Given the description of an element on the screen output the (x, y) to click on. 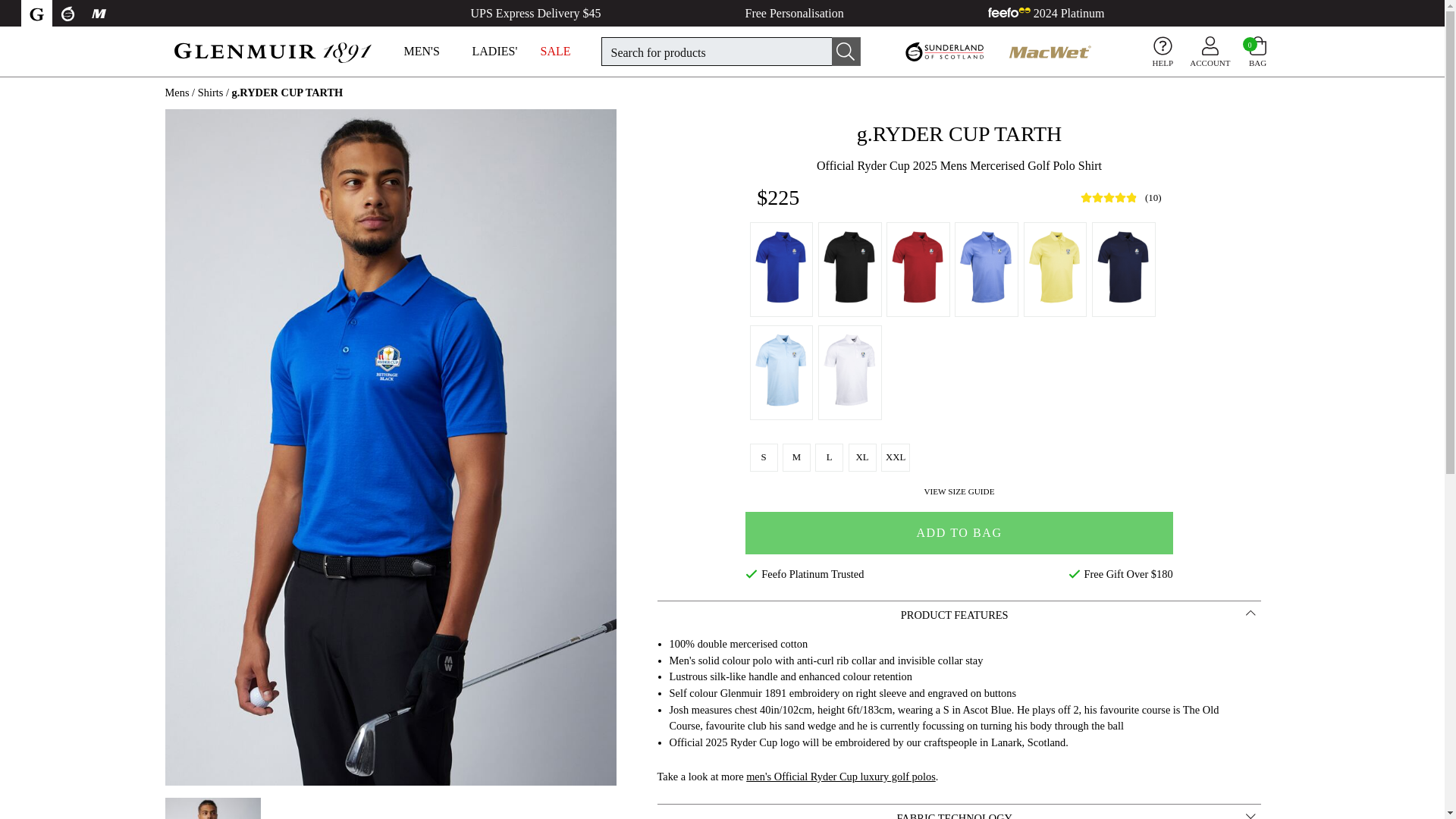
MEN'S (430, 51)
Glenmuir at Feefo (1046, 13)
SALE (566, 51)
glenmuir (271, 50)
Free Personalisation (793, 13)
2024 Platinum (1046, 13)
LADIES' (497, 51)
